Given the description of an element on the screen output the (x, y) to click on. 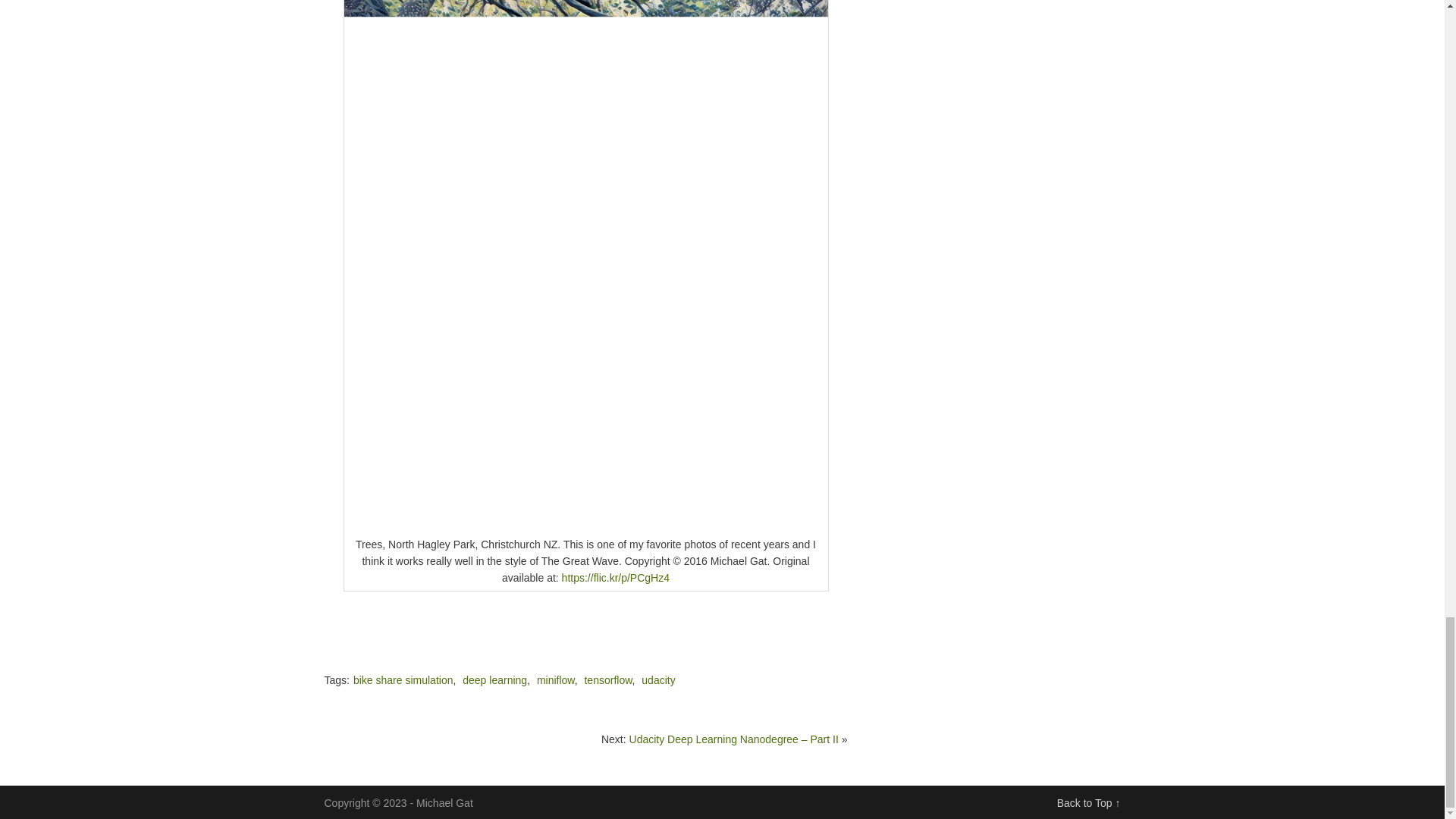
deep learning (495, 680)
udacity (658, 680)
tensorflow (607, 680)
bike share simulation (402, 680)
miniflow (556, 680)
